Given the description of an element on the screen output the (x, y) to click on. 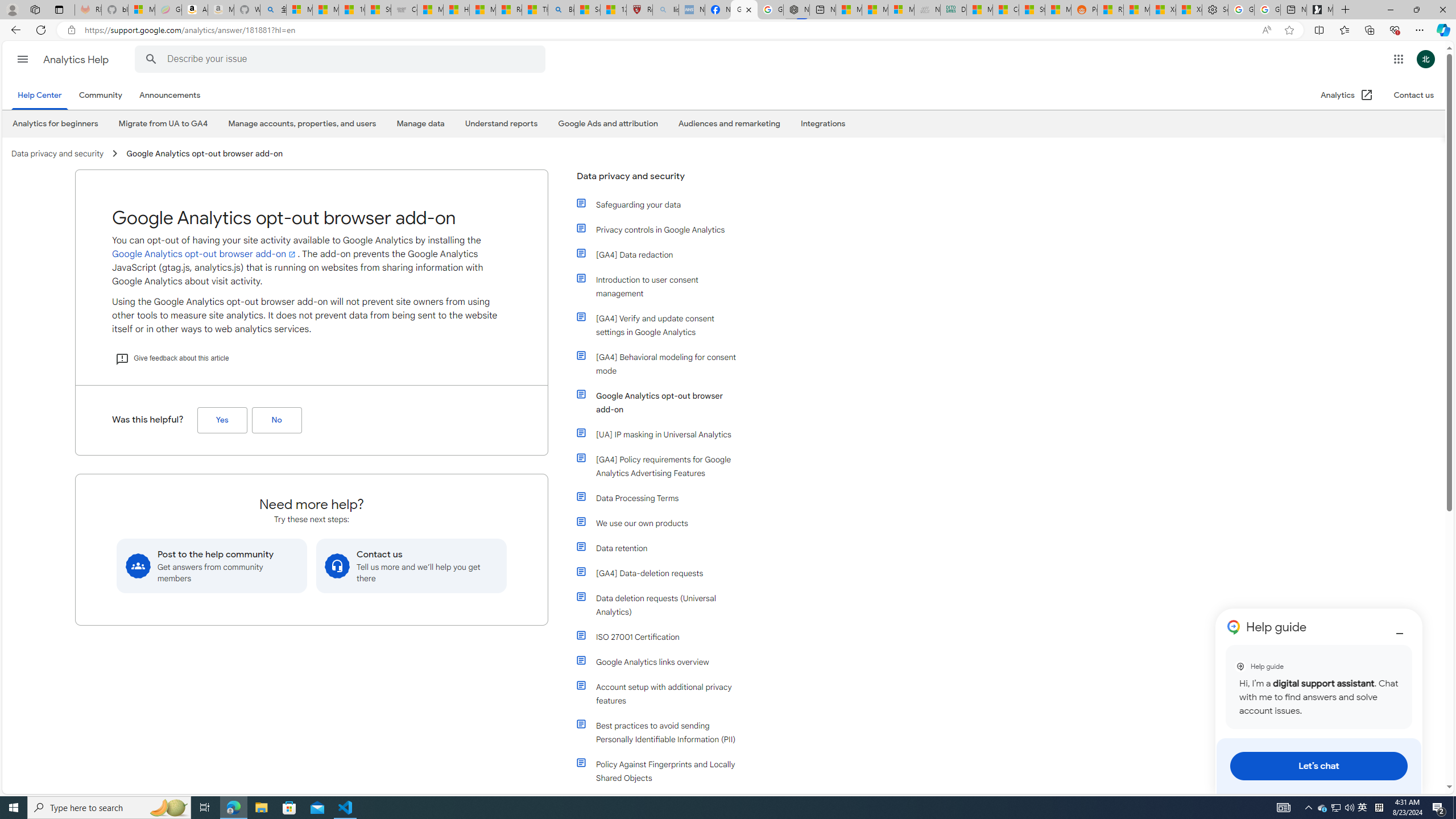
Understand reports (500, 123)
R******* | Trusted Community Engagement and Contributions (1110, 9)
Privacy controls in Google Analytics (664, 229)
We use our own products (658, 523)
Announcements (171, 95)
Help Center (41, 95)
Google Analytics links overview (658, 661)
Integrations (822, 123)
